Given the description of an element on the screen output the (x, y) to click on. 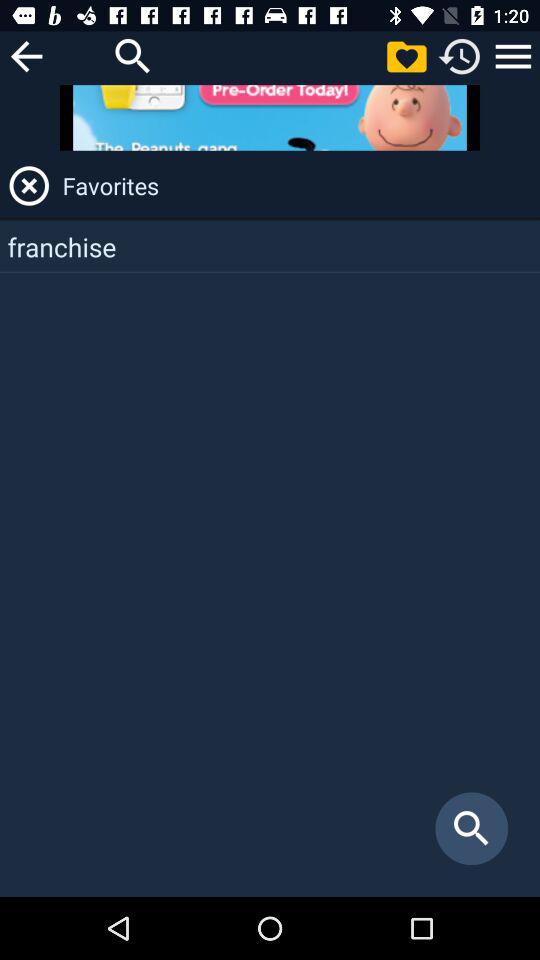
turn on item to the left of favorites icon (29, 185)
